Given the description of an element on the screen output the (x, y) to click on. 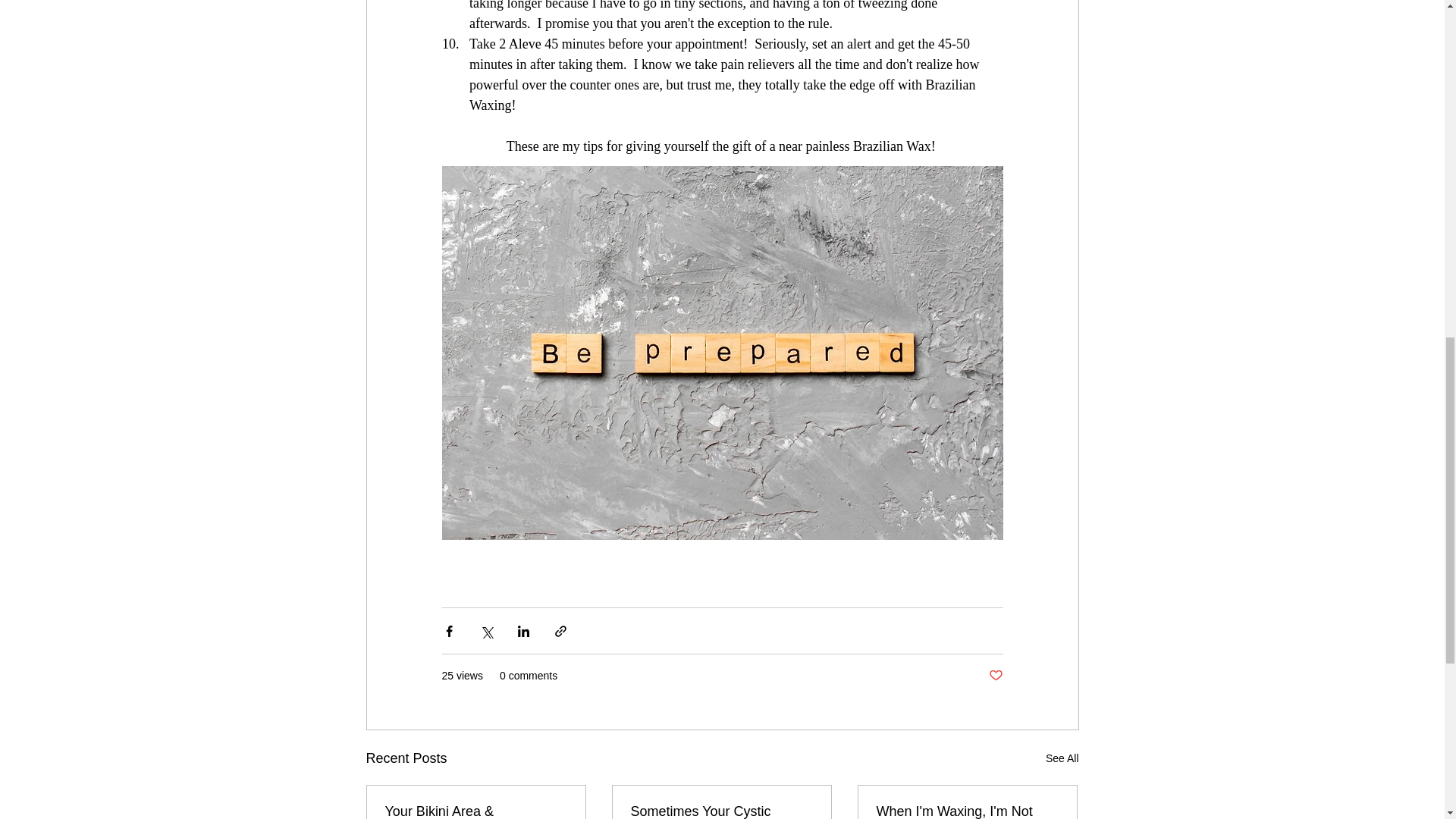
Post not marked as liked (995, 675)
See All (1061, 758)
When I'm Waxing, I'm Not Looking At Anything Else (967, 811)
